Given the description of an element on the screen output the (x, y) to click on. 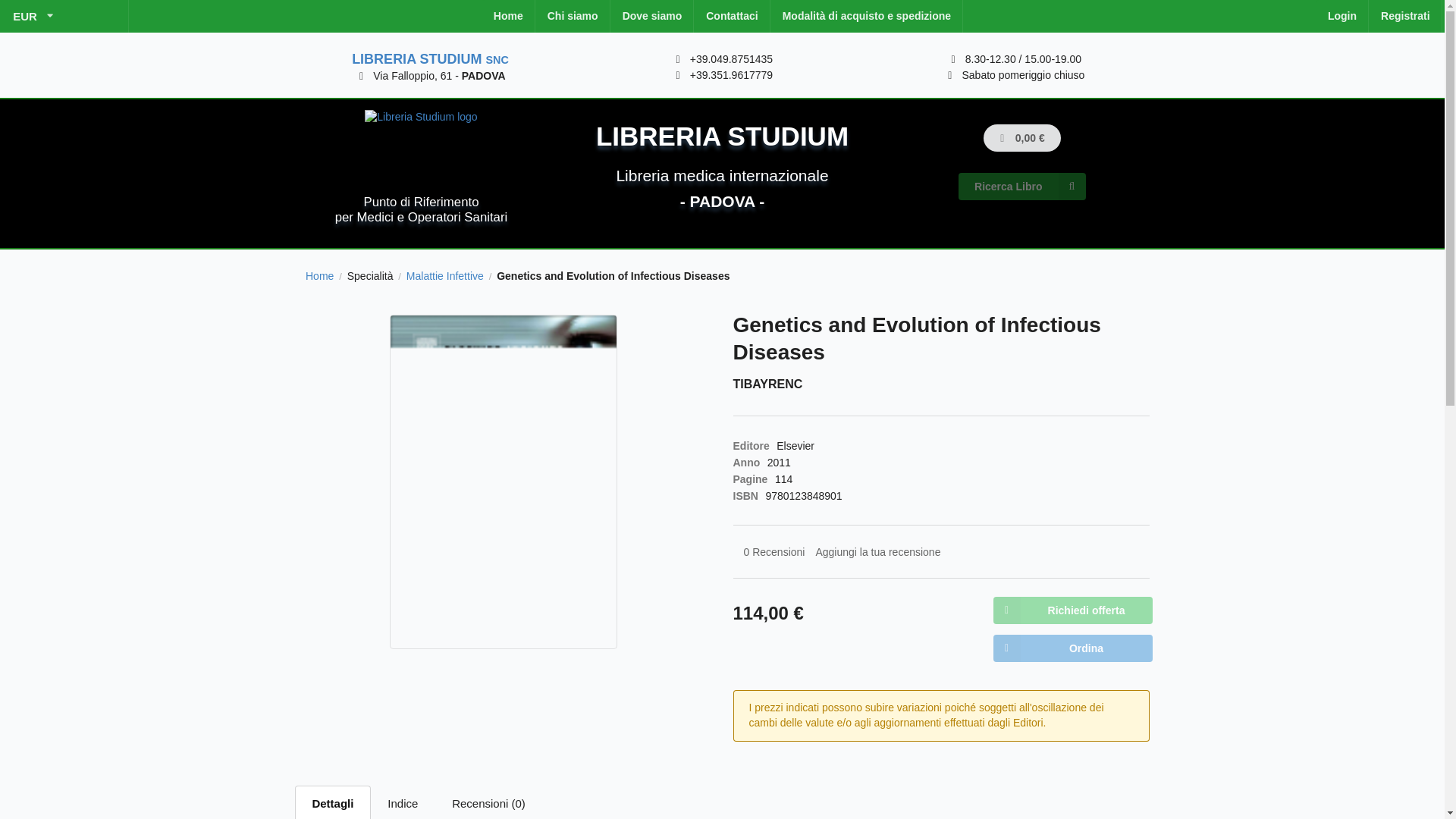
Contattaci (732, 16)
Chi siamo (572, 16)
0 Recensioni (774, 551)
Ordina (1072, 647)
LIBRERIA STUDIUM SNC (430, 58)
Indice (403, 802)
Registrati (1405, 16)
Dove siamo (652, 16)
Dettagli (333, 802)
Ricerca Libro (1021, 185)
Home (319, 276)
Home (508, 16)
Aggiungi la tua recensione (876, 551)
Malattie Infettive (444, 276)
Login (1342, 16)
